Given the description of an element on the screen output the (x, y) to click on. 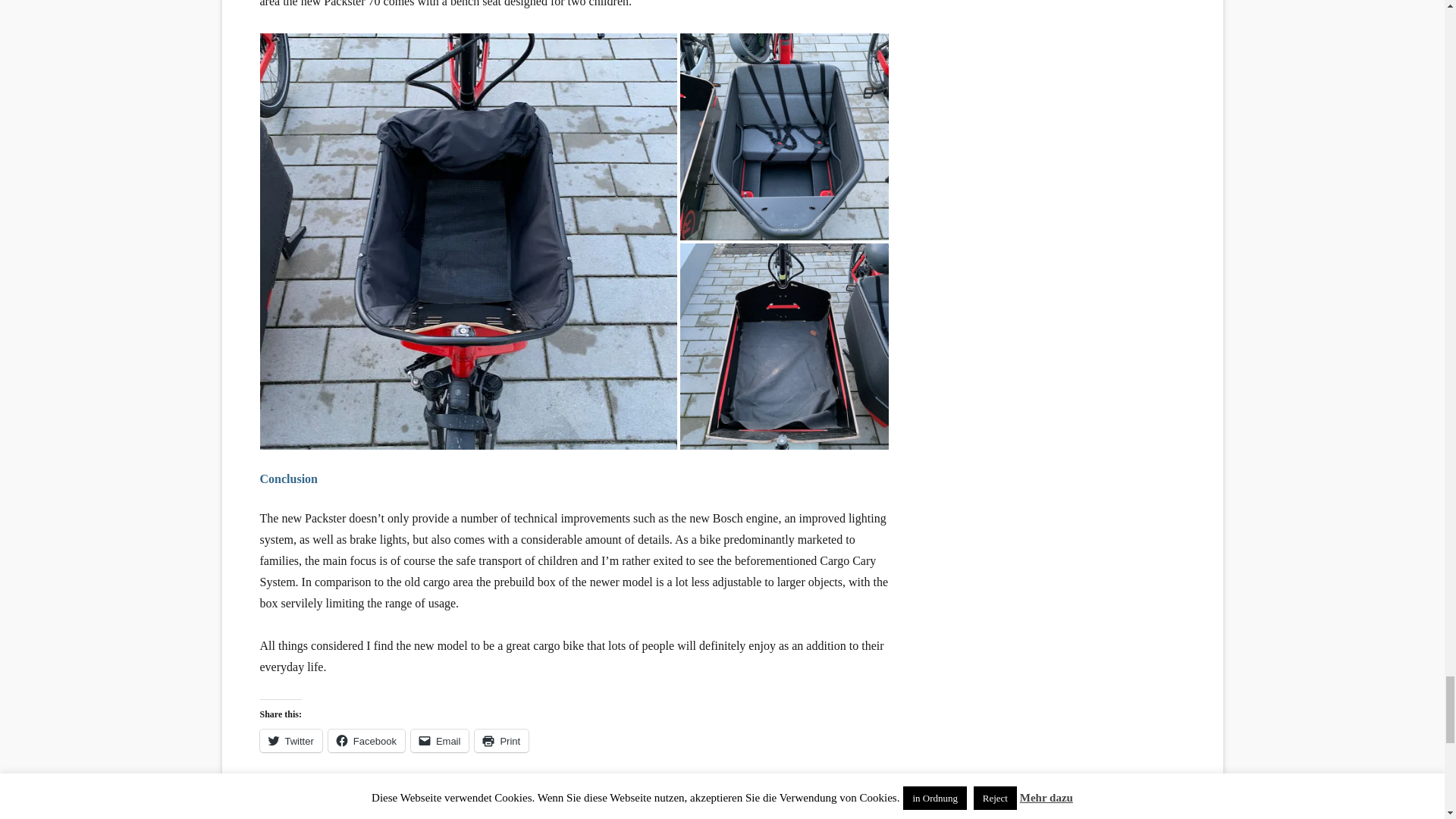
Twitter (290, 740)
Facebook (366, 740)
Print (501, 740)
Uncategorized (296, 796)
Click to share on Facebook (366, 740)
Click to print (501, 740)
Click to email a link to a friend (439, 740)
Email (439, 740)
Click to share on Twitter (290, 740)
